Given the description of an element on the screen output the (x, y) to click on. 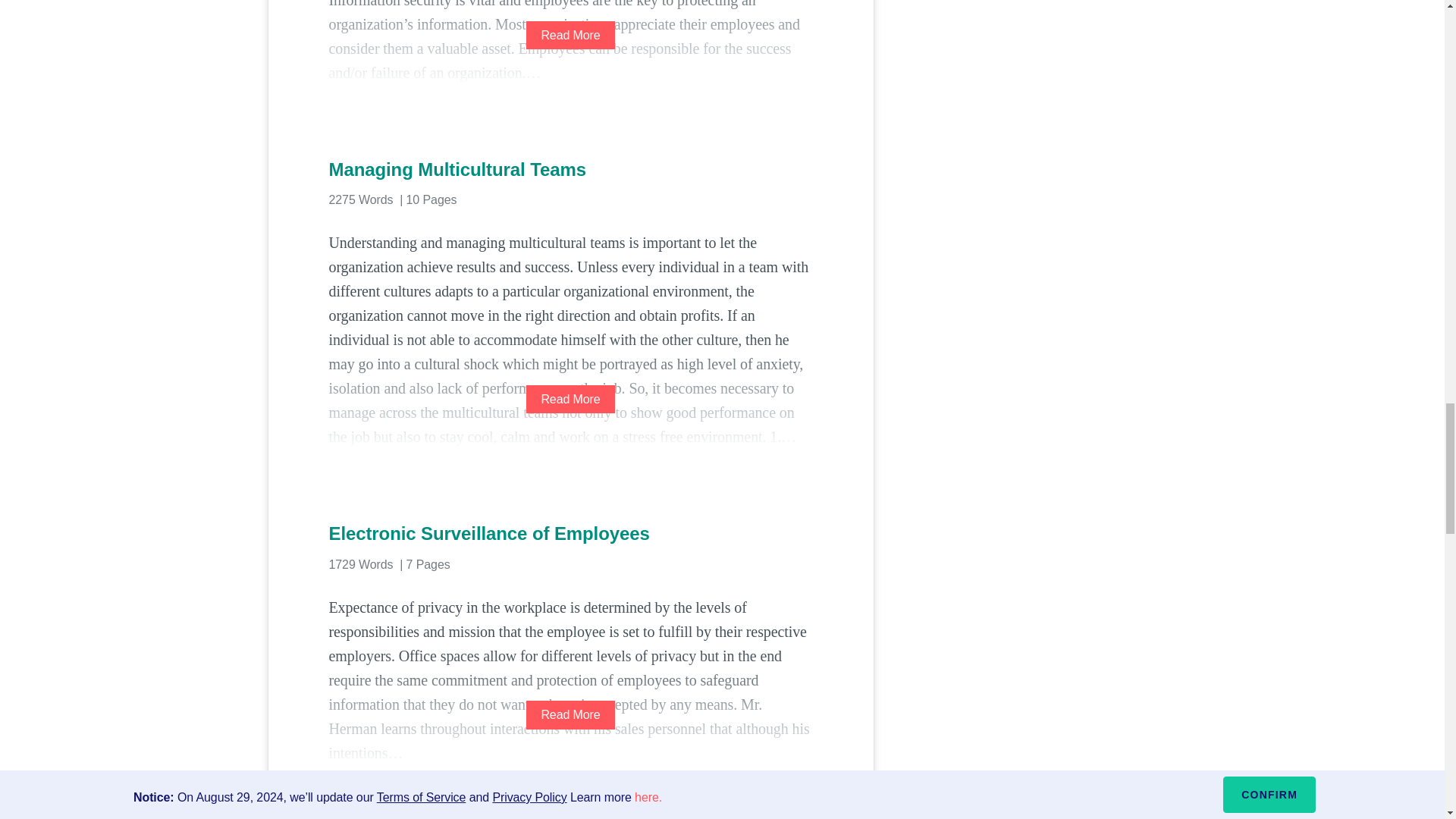
Managing Multicultural Teams (570, 169)
Read More (569, 714)
Electronic Surveillance of Employees (570, 533)
Read More (569, 35)
Read More (569, 398)
